Given the description of an element on the screen output the (x, y) to click on. 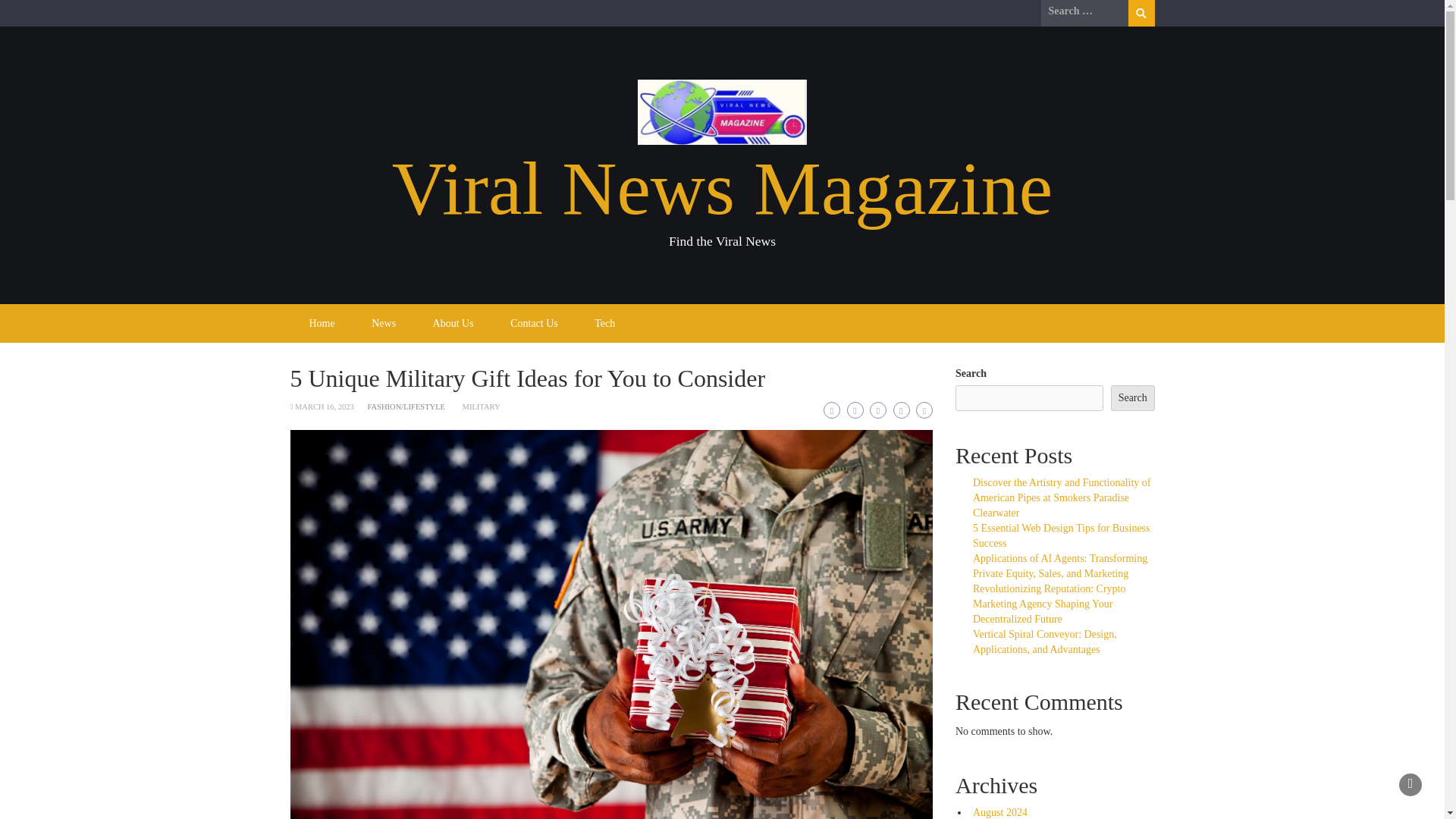
MILITARY (481, 406)
Search (1141, 13)
Search (1132, 397)
MARCH 16, 2023 (324, 406)
About Us (453, 323)
Tech (604, 323)
